Given the description of an element on the screen output the (x, y) to click on. 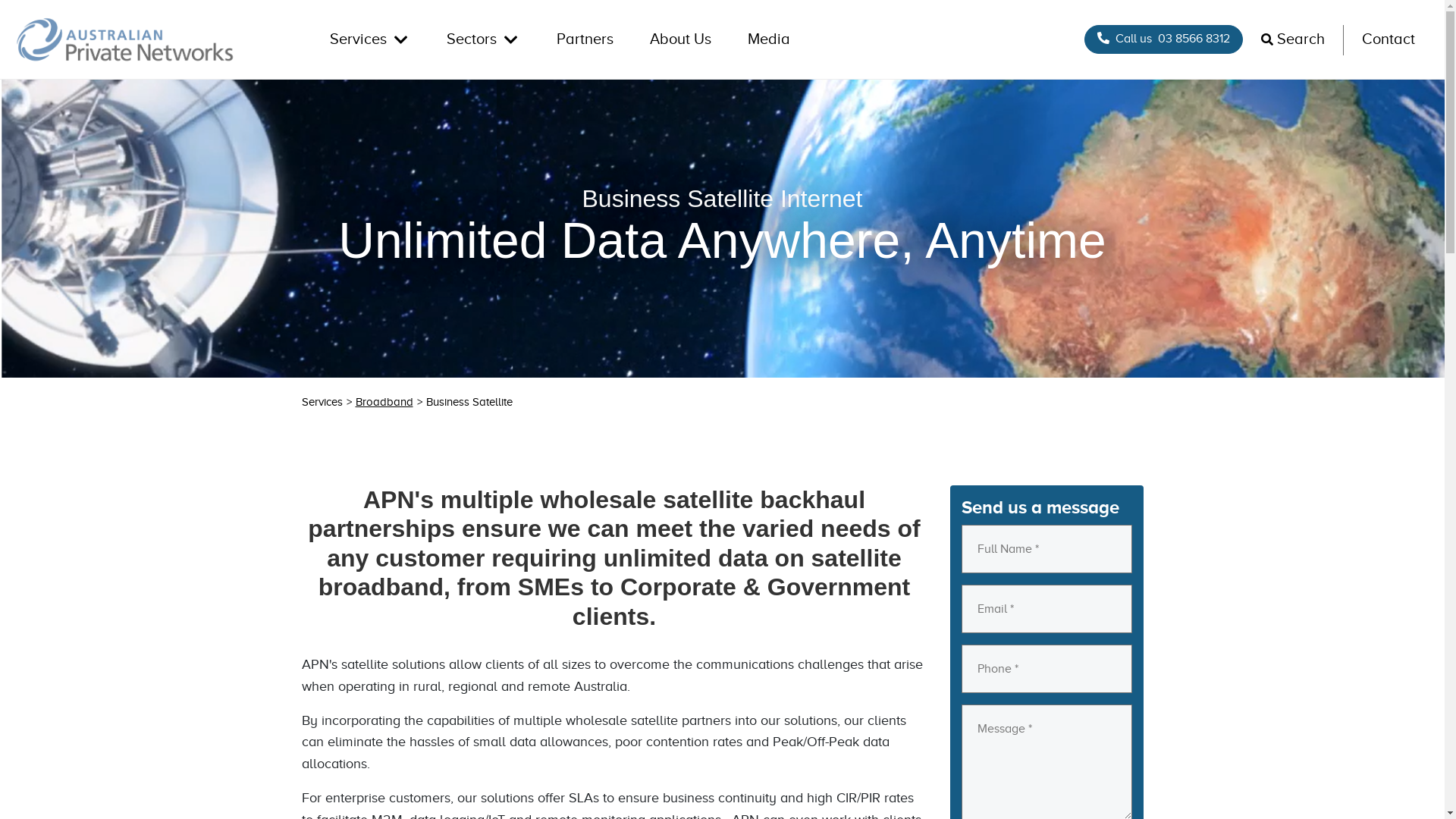
Sectors Element type: text (483, 39)
About Us Element type: text (680, 38)
Broadband Element type: text (383, 401)
Partners Element type: text (584, 38)
Services Element type: text (369, 39)
Media Element type: text (768, 38)
 Search Element type: text (1292, 38)
Call us  03 8566 8312 Element type: text (1163, 39)
Contact Element type: text (1388, 38)
